Given the description of an element on the screen output the (x, y) to click on. 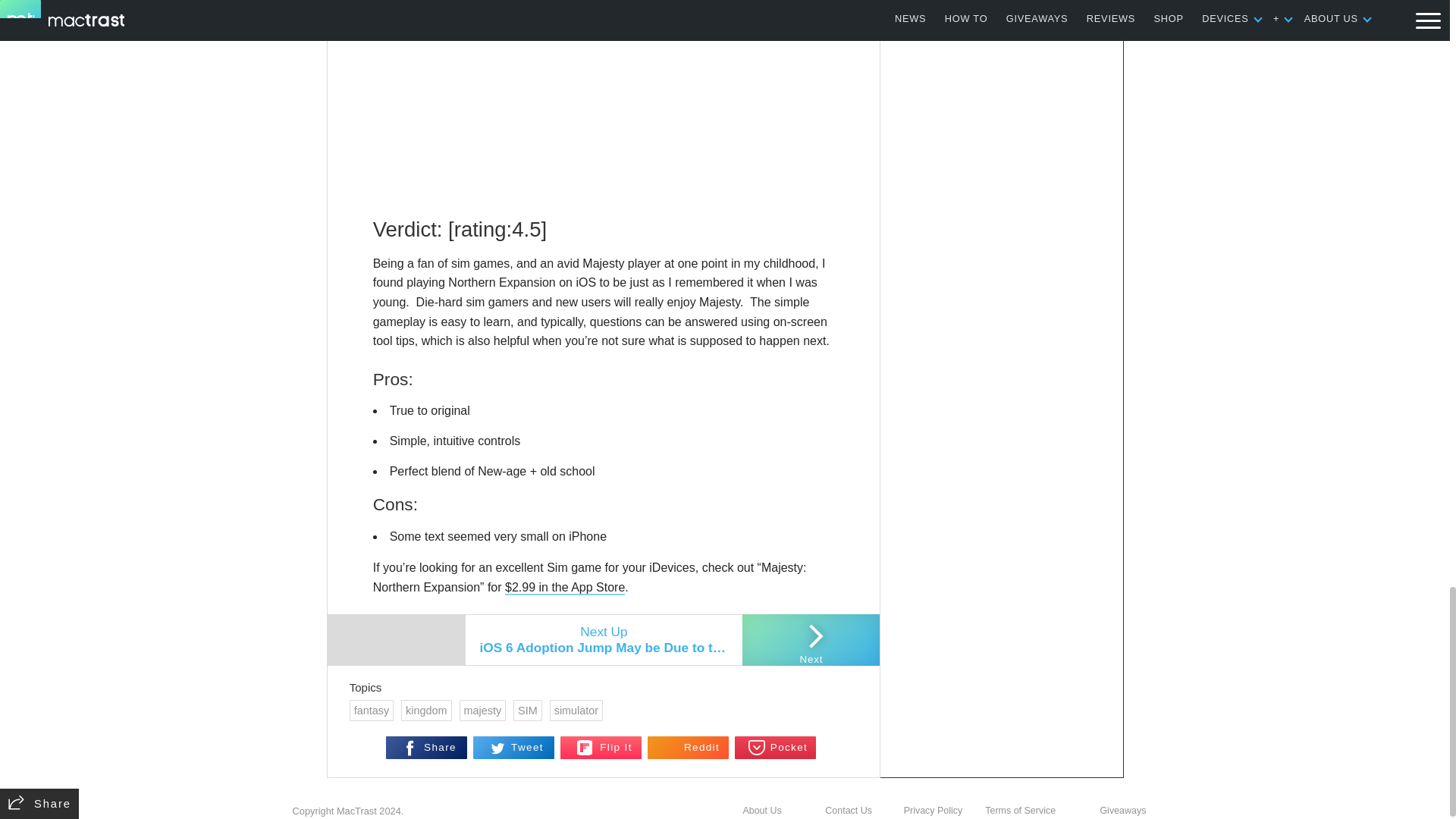
Majesty Northern Expansion (564, 587)
majesty-kingdom (603, 100)
Tweet (513, 747)
Share on Facebook (426, 747)
Share on Reddit (688, 747)
